Given the description of an element on the screen output the (x, y) to click on. 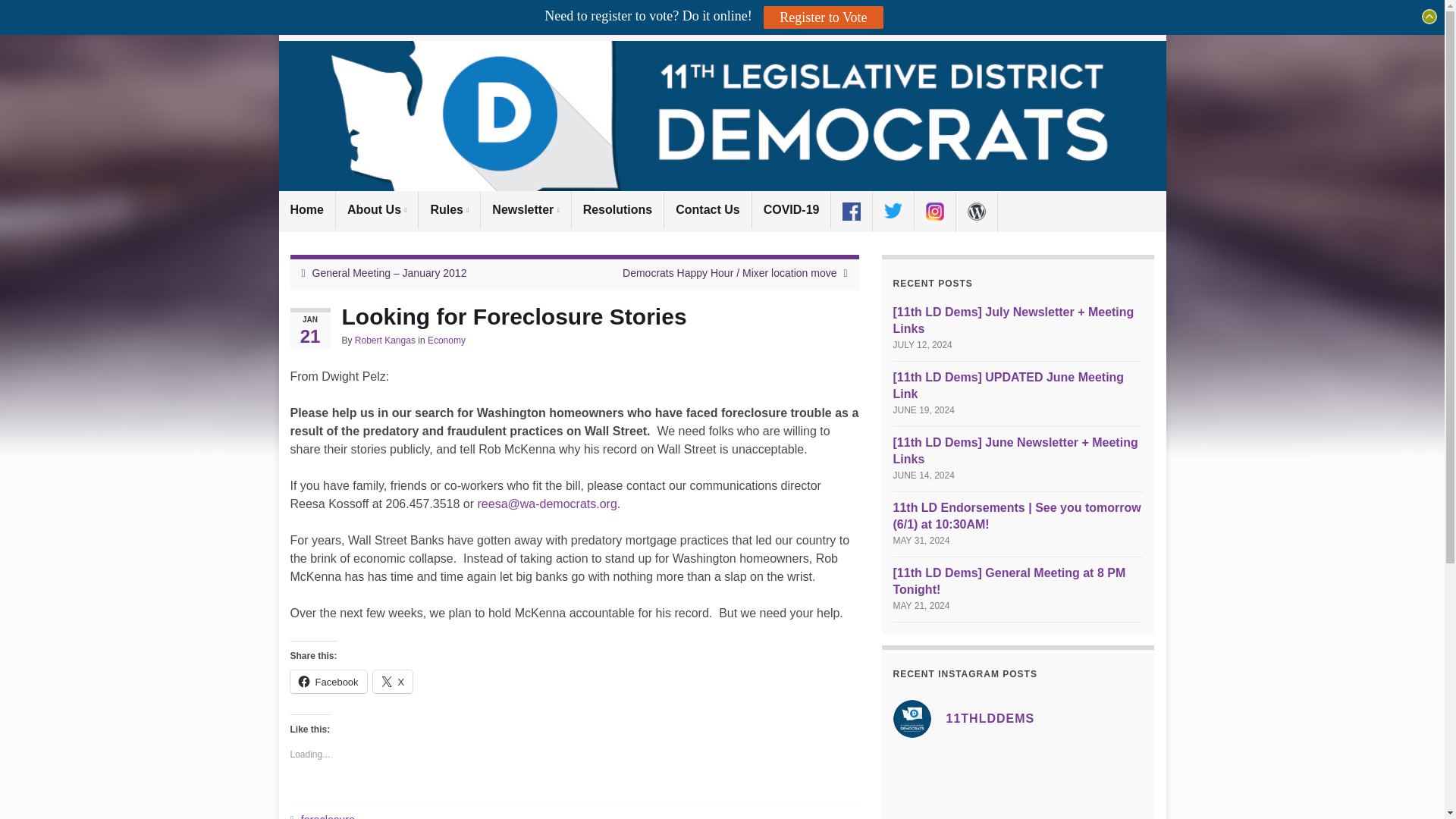
Facebook (327, 681)
Home (306, 209)
Resolutions (617, 209)
Economy (446, 339)
COVID-19 (791, 209)
Click to share on Facebook (327, 681)
Robert Kangas (384, 339)
LinkedIn (354, 17)
Contact Us (707, 209)
Click to share on X (392, 681)
